Given the description of an element on the screen output the (x, y) to click on. 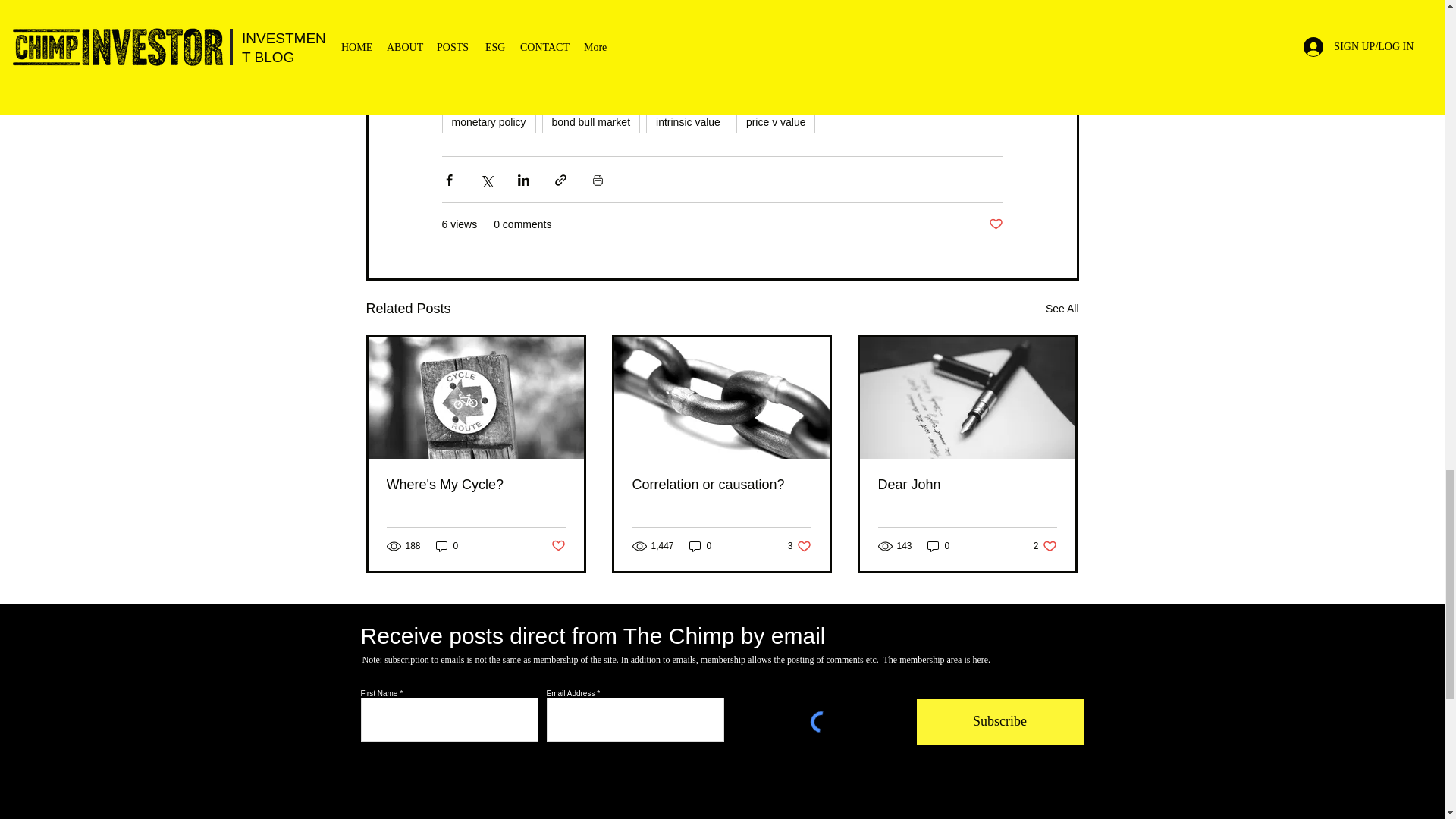
Where's My Cycle? (476, 484)
price v value (775, 121)
Correlation or causation? (720, 484)
Post not marked as liked (995, 224)
bond bull market (590, 121)
0 (446, 545)
monetary policy (488, 121)
Post not marked as liked (557, 546)
See All (798, 545)
intrinsic value (1061, 309)
0 (688, 121)
